Given the description of an element on the screen output the (x, y) to click on. 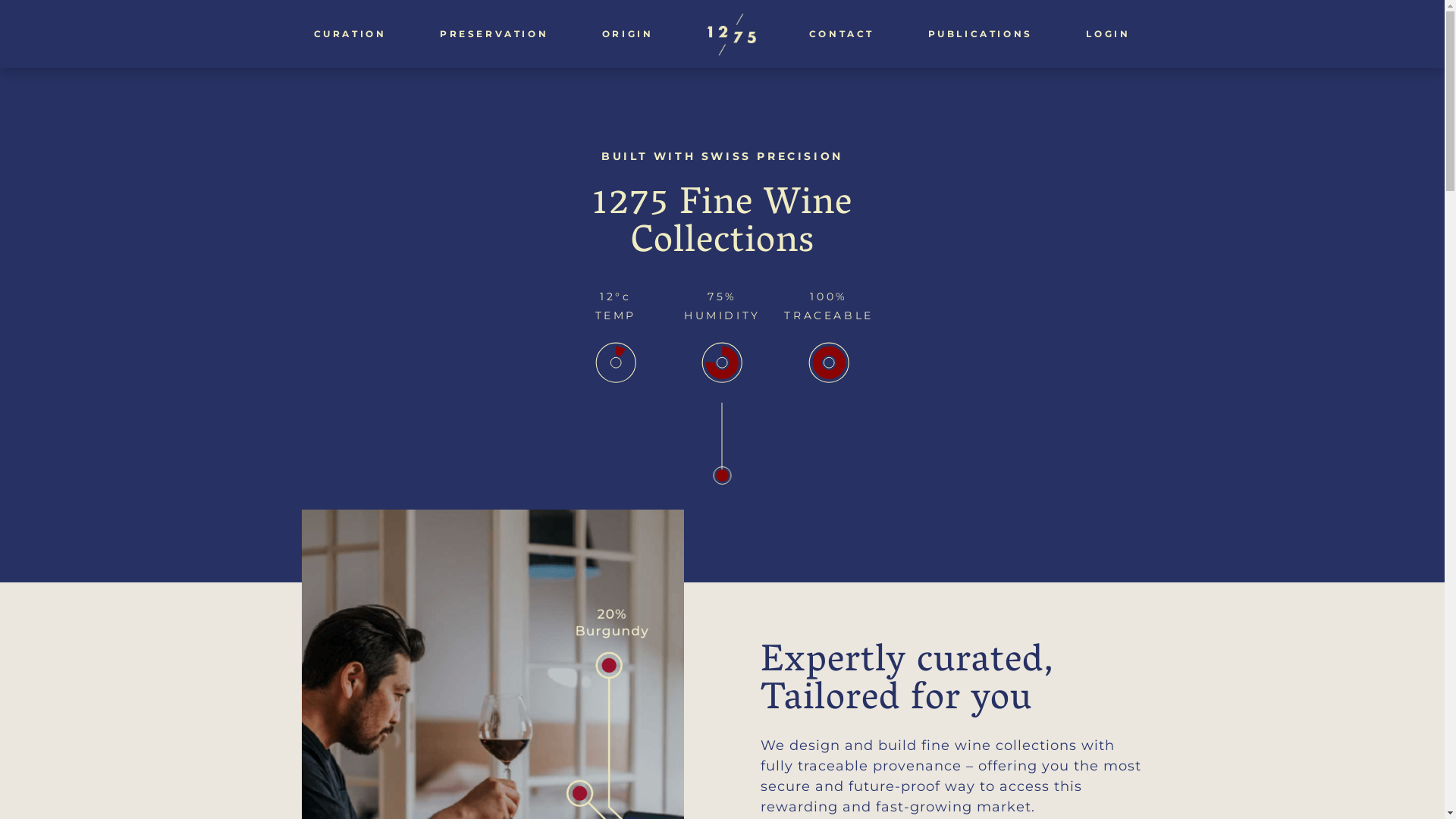
CURATION Element type: text (350, 34)
ORIGIN Element type: text (627, 34)
LOGIN Element type: text (1107, 34)
PUBLICATIONS Element type: text (980, 34)
CONTACT Element type: text (842, 34)
PRESERVATION Element type: text (494, 34)
